Given the description of an element on the screen output the (x, y) to click on. 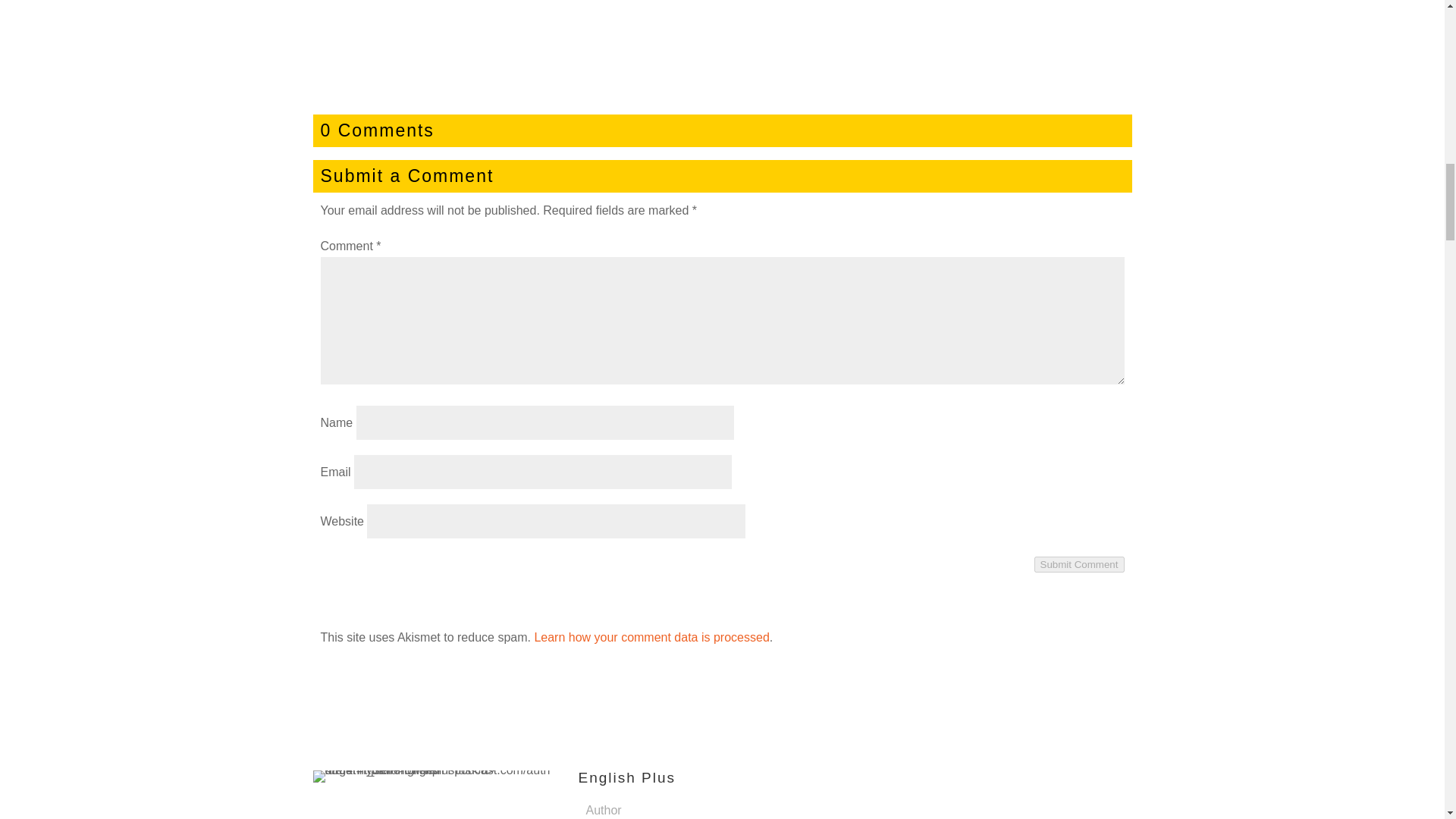
Submit Comment (1078, 564)
Learn how your comment data is processed (651, 636)
English Plus (626, 777)
